Given the description of an element on the screen output the (x, y) to click on. 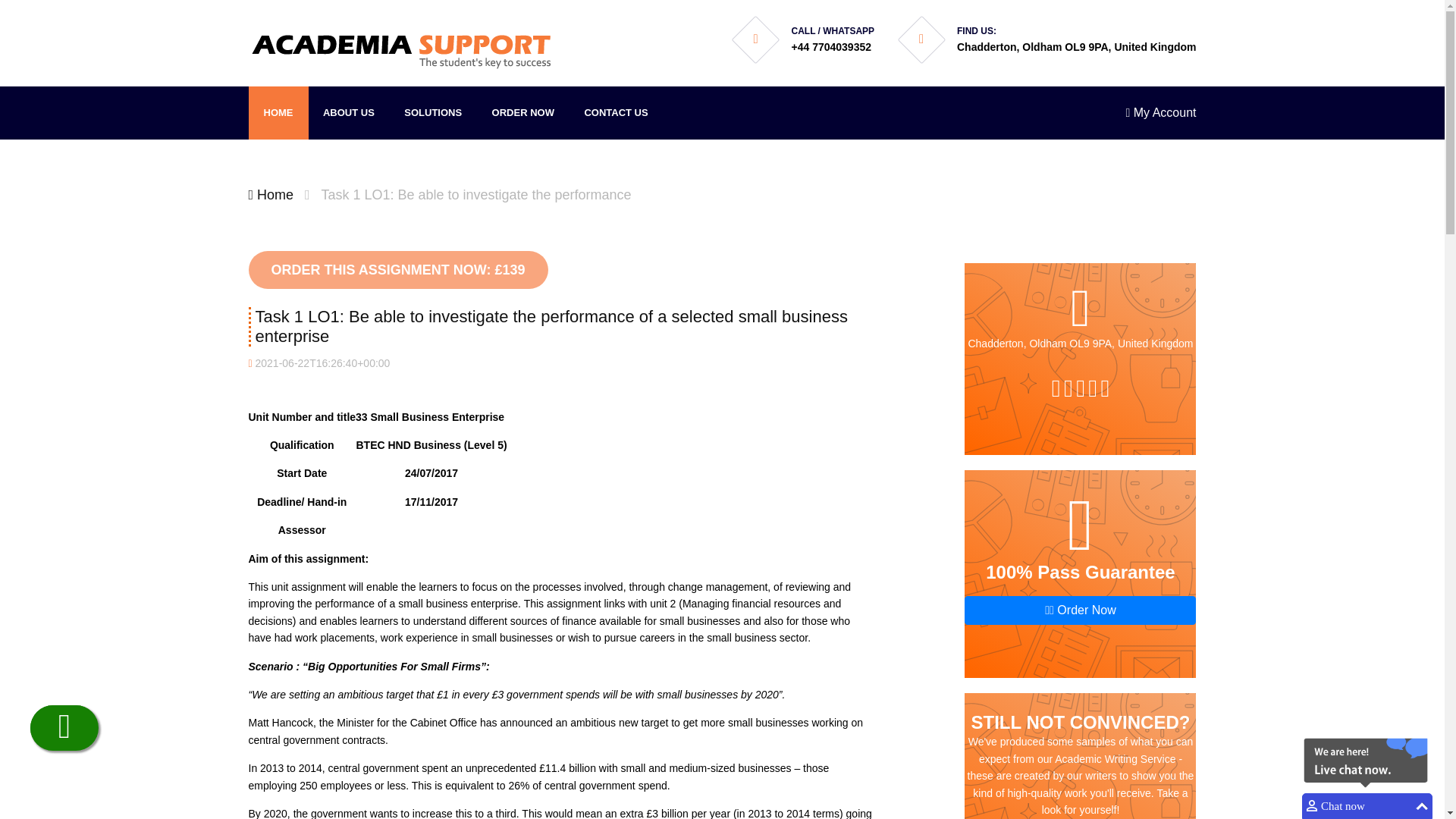
My Account (1160, 112)
Maximize (1421, 805)
ORDER NOW (523, 112)
ABOUT US (348, 112)
SOLUTIONS (432, 112)
HOME (278, 112)
Home (271, 193)
CONTACT US (615, 112)
Order Now (1079, 610)
